Given the description of an element on the screen output the (x, y) to click on. 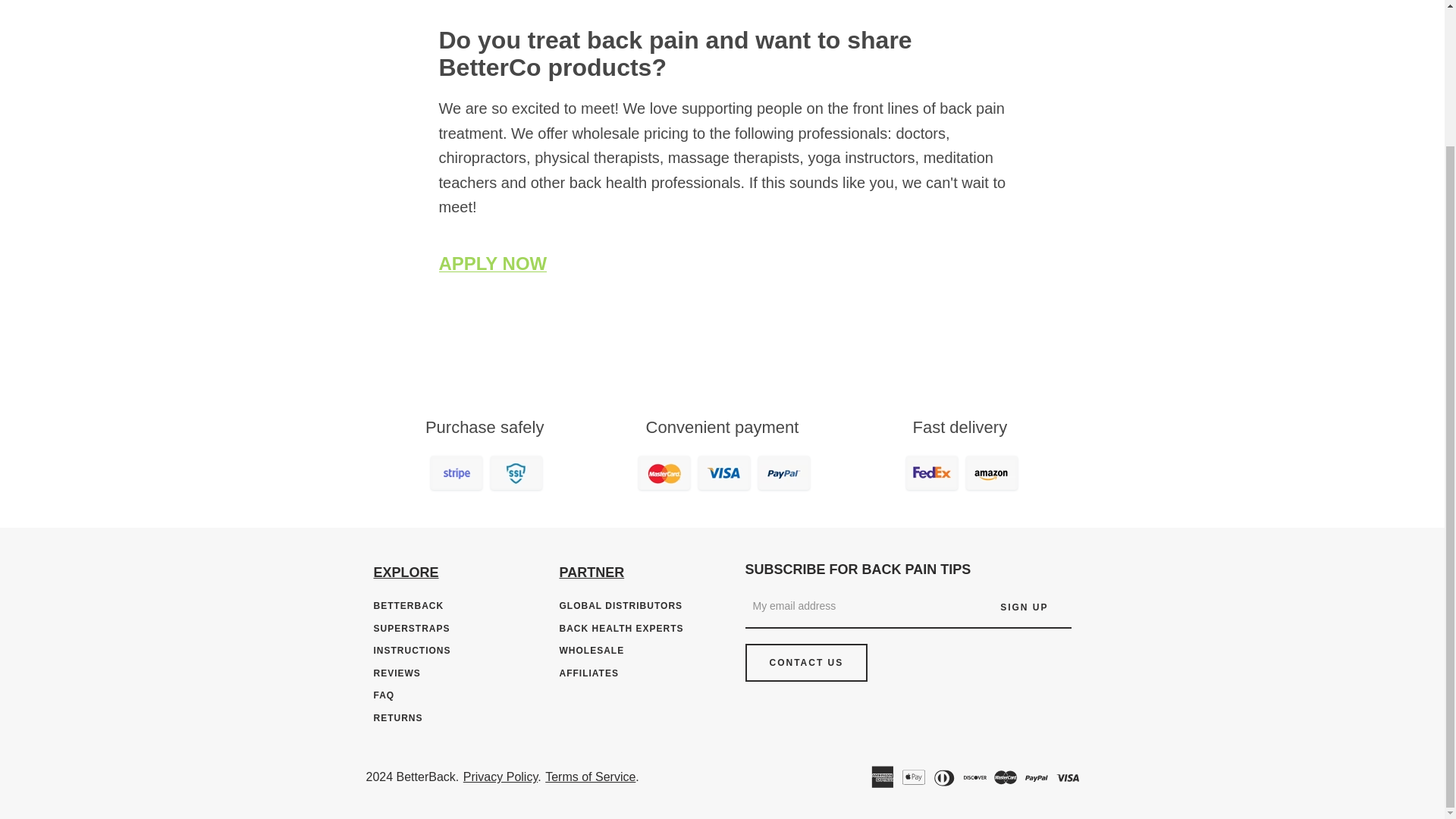
SUPERSTRAPS (410, 628)
INSTRUCTIONS (410, 650)
WHOLESALE (591, 650)
APPLY NOW (492, 263)
BACK HEALTH EXPERTS (621, 628)
RETURNS (397, 717)
CONTACT US (805, 662)
REVIEWS (396, 672)
Terms of Service (589, 776)
FAQ (383, 695)
